Given the description of an element on the screen output the (x, y) to click on. 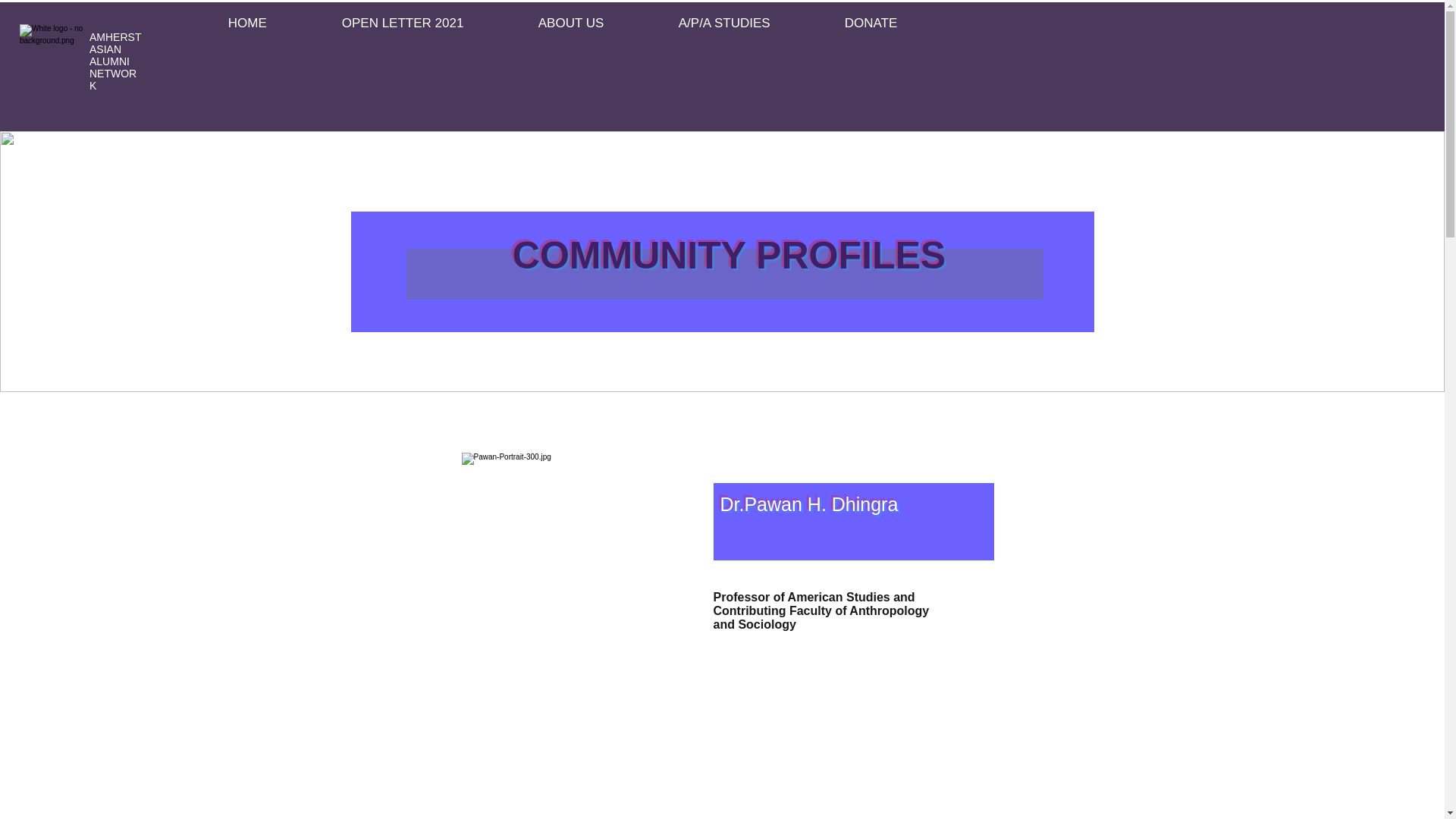
ABOUT US (596, 23)
OPEN LETTER 2021 (428, 23)
HOME (273, 23)
DONATE (896, 23)
